Given the description of an element on the screen output the (x, y) to click on. 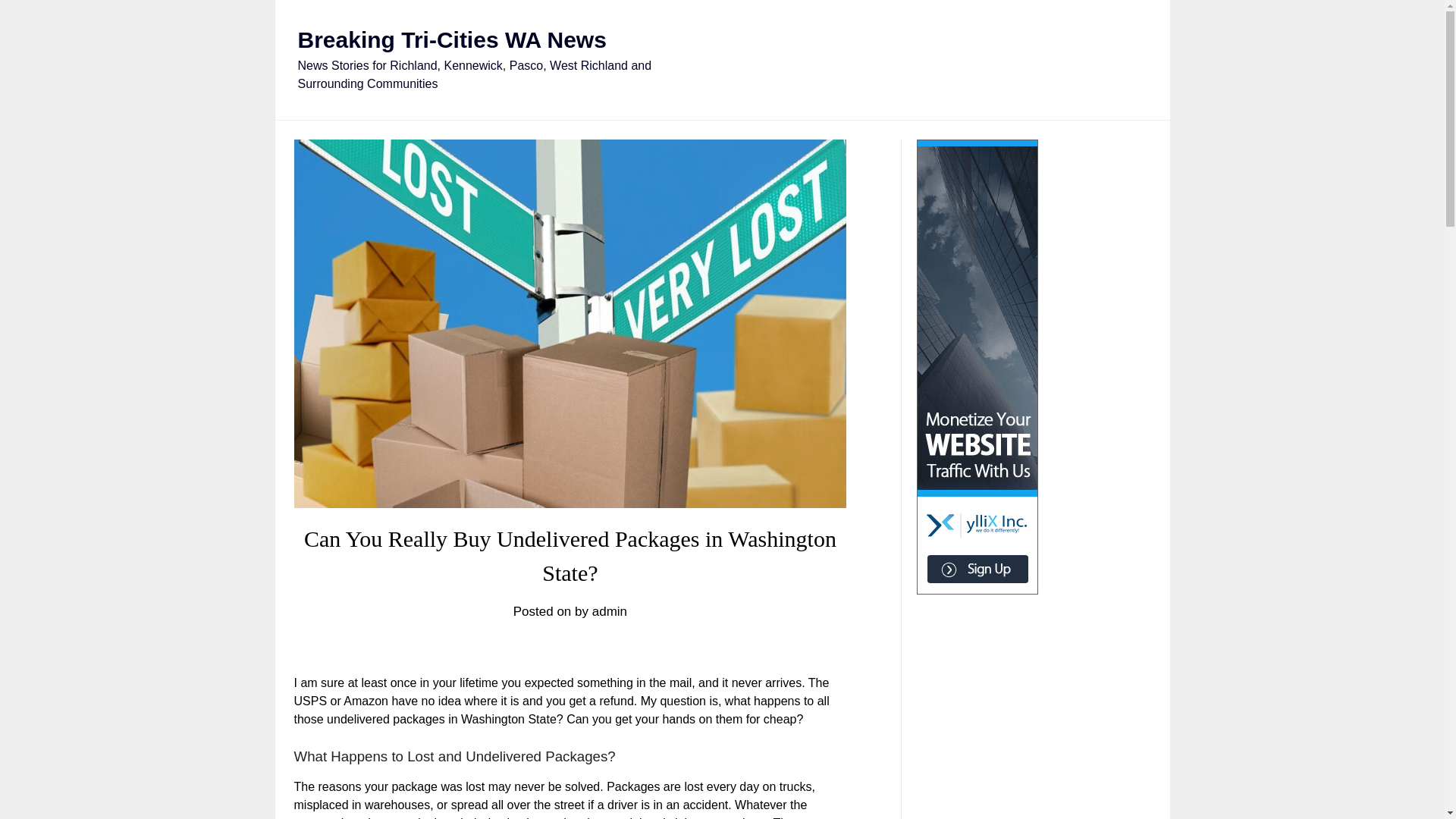
admin (609, 611)
Breaking Tri-Cities WA News (451, 39)
